Given the description of an element on the screen output the (x, y) to click on. 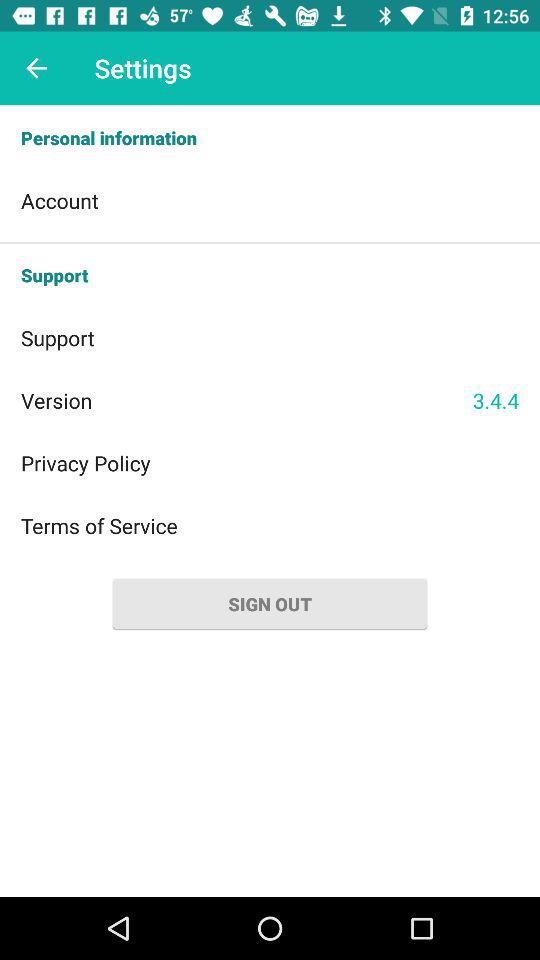
click the item above the privacy policy icon (246, 400)
